Given the description of an element on the screen output the (x, y) to click on. 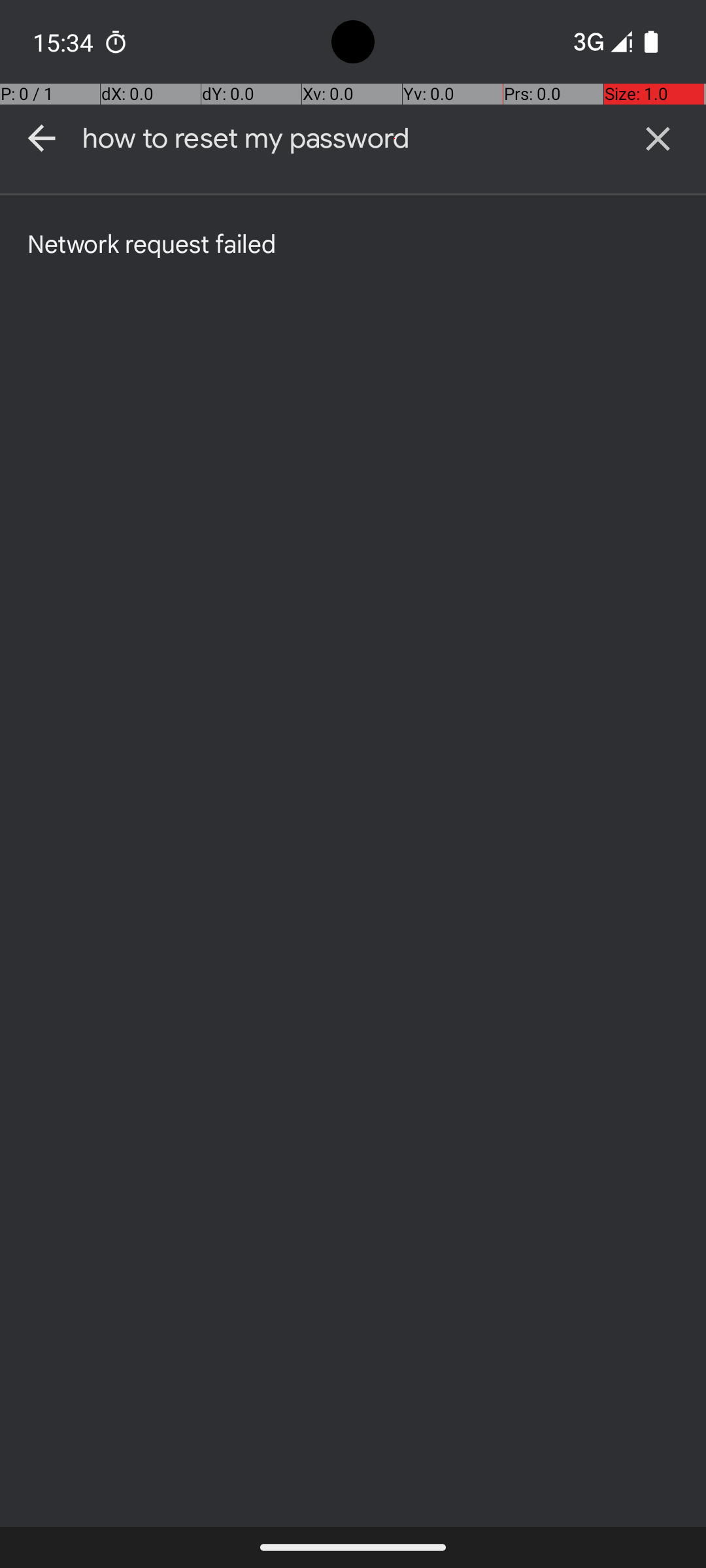
how to reset my password Element type: android.widget.EditText (345, 138)
Clear text Element type: android.widget.ImageButton (657, 138)
Network request failed Element type: android.widget.TextView (151, 243)
